Given the description of an element on the screen output the (x, y) to click on. 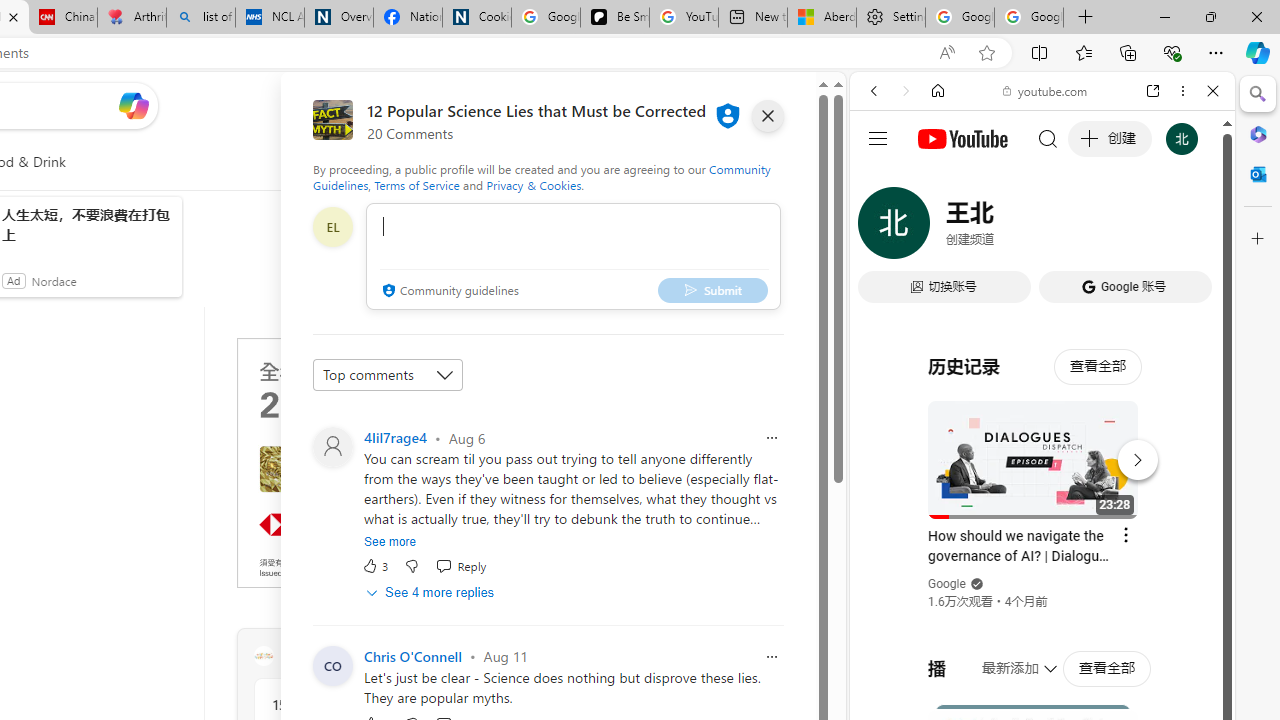
Report comment (771, 656)
close (767, 115)
Search Filter, IMAGES (939, 228)
list of asthma inhalers uk - Search (200, 17)
Cookies (476, 17)
Visit Craft Your Happy Place website (511, 655)
Be Smart | creating Science videos | Patreon (614, 17)
